Given the description of an element on the screen output the (x, y) to click on. 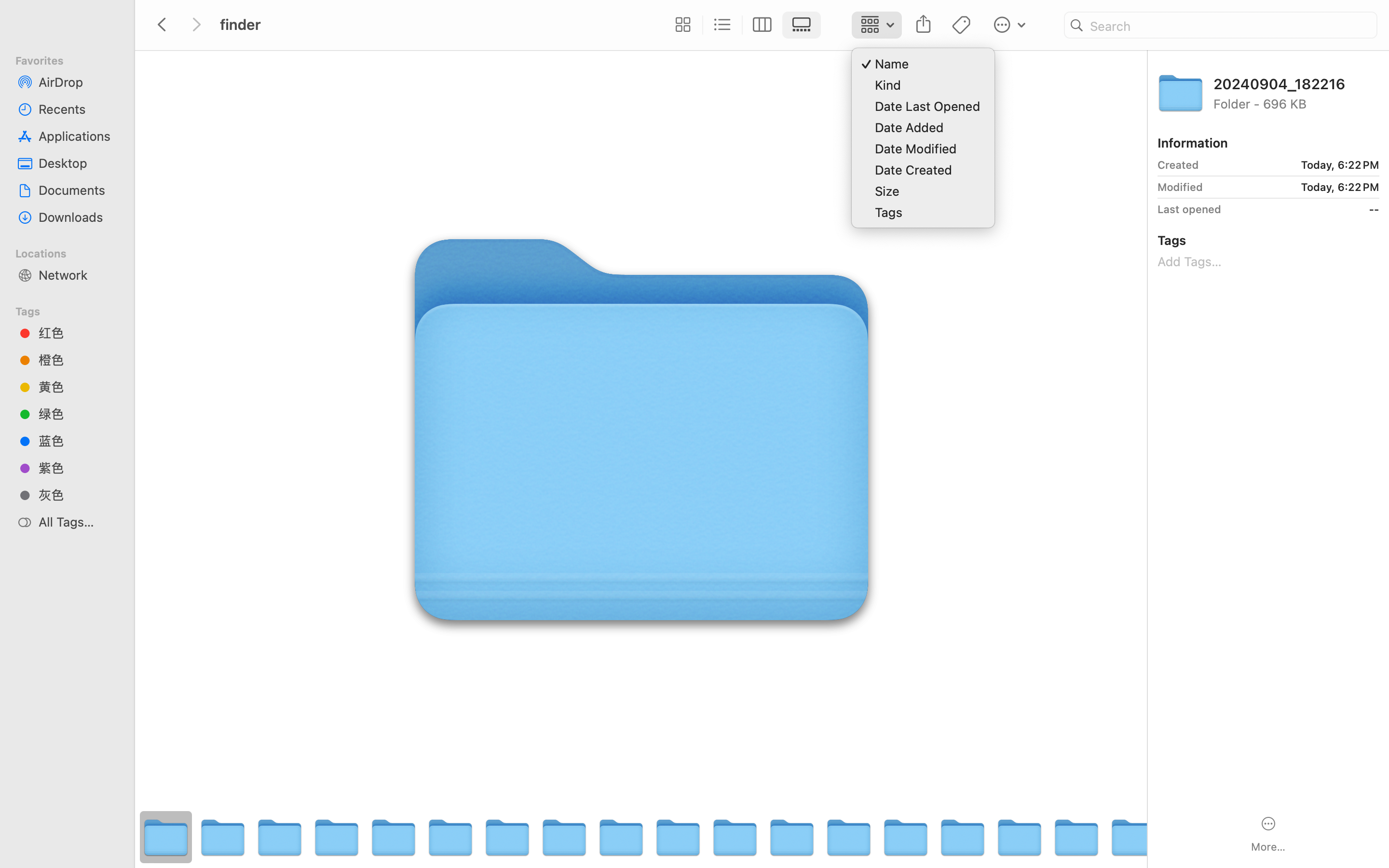
Applications Element type: AXStaticText (77, 135)
0 Element type: AXRadioButton (680, 24)
Favorites Element type: AXStaticText (72, 59)
AirDrop Element type: AXStaticText (77, 81)
Network Element type: AXStaticText (77, 274)
